Given the description of an element on the screen output the (x, y) to click on. 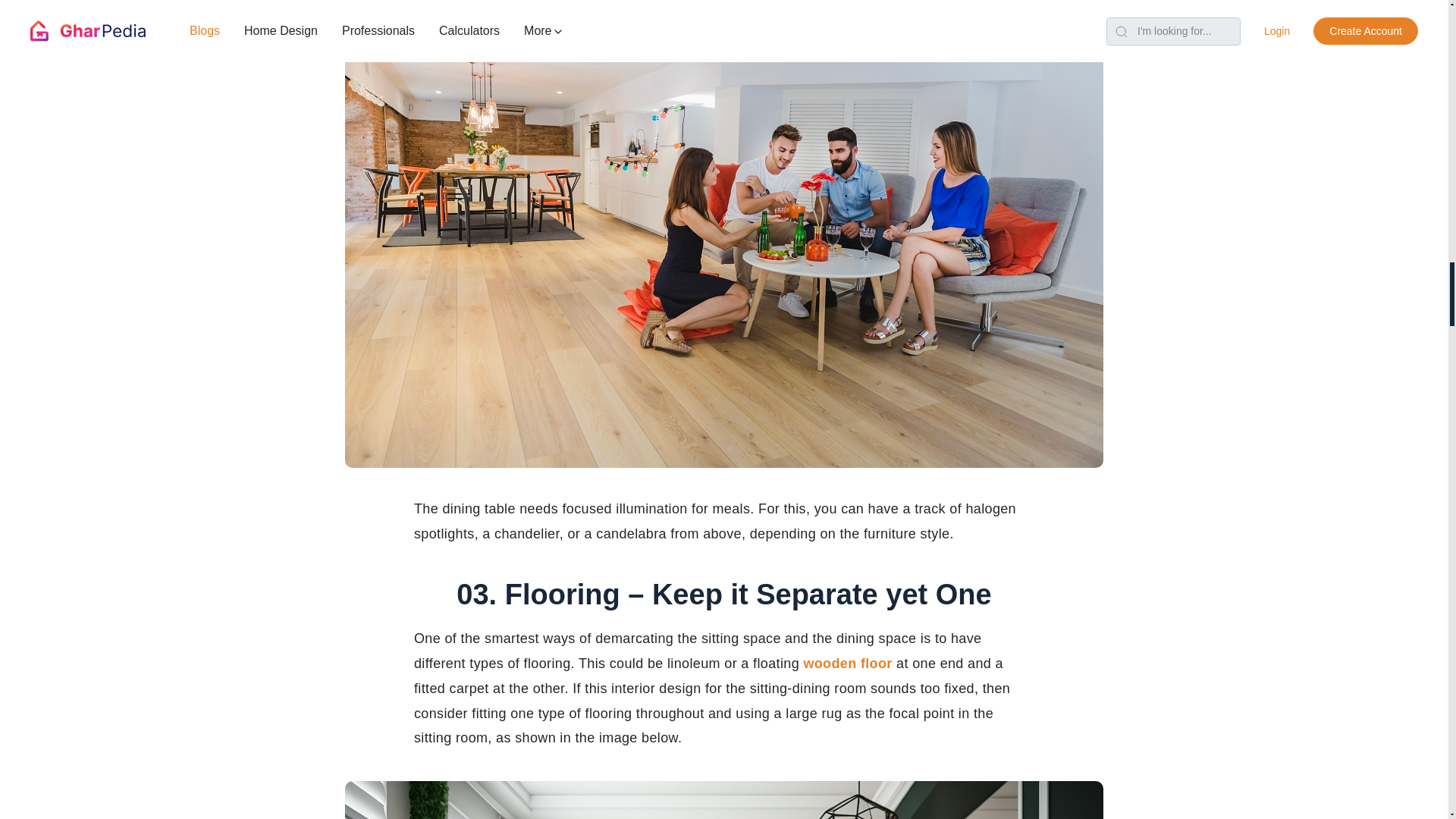
Floor ideas for multifunctional sitting-dining room (724, 800)
